Given the description of an element on the screen output the (x, y) to click on. 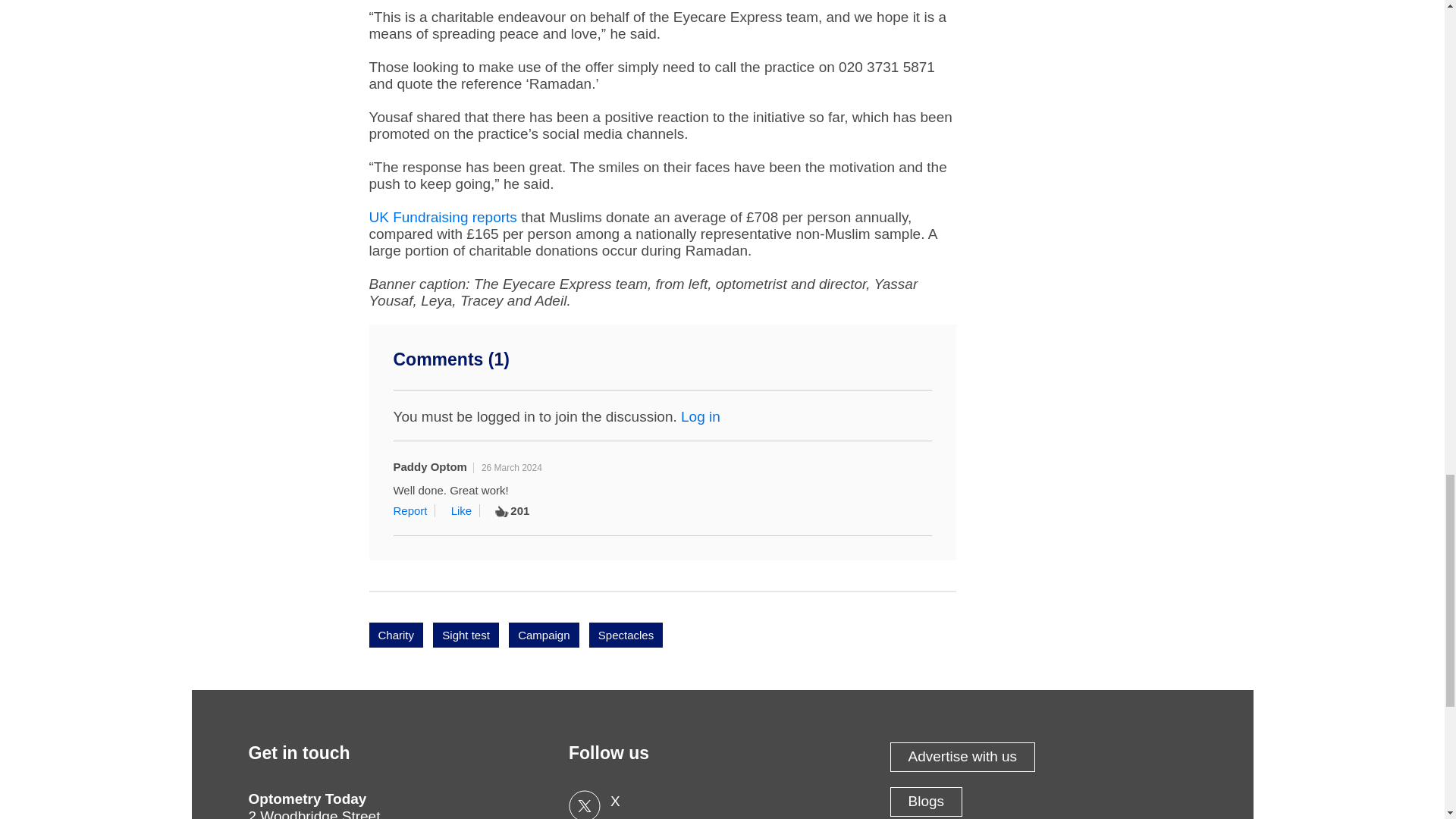
Report (414, 510)
Like (465, 510)
Follow Ot on Twitter (722, 804)
